Given the description of an element on the screen output the (x, y) to click on. 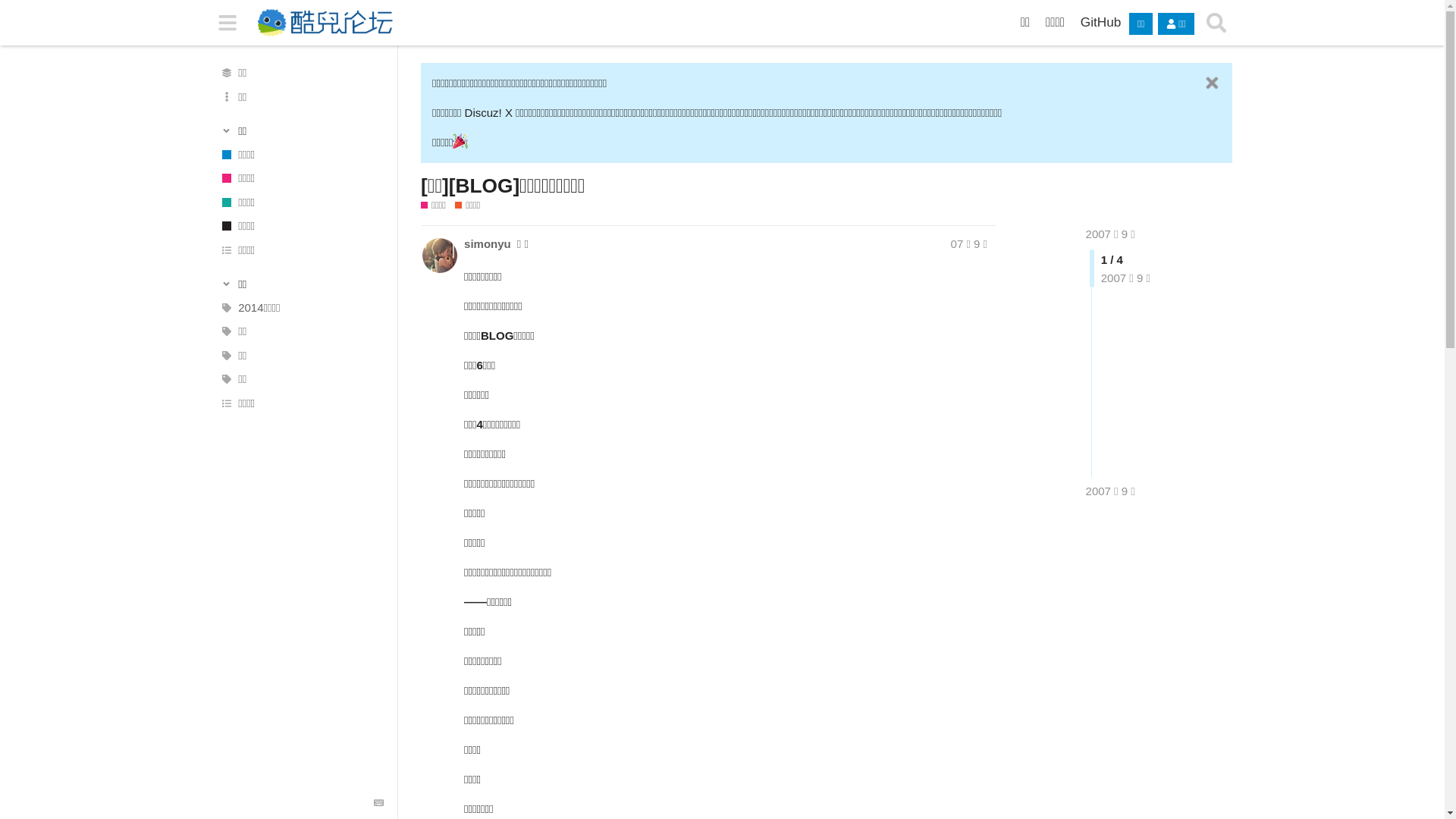
GitHub Element type: text (1100, 21)
:tada: Element type: hover (459, 140)
simonyu Element type: text (487, 244)
